Given the description of an element on the screen output the (x, y) to click on. 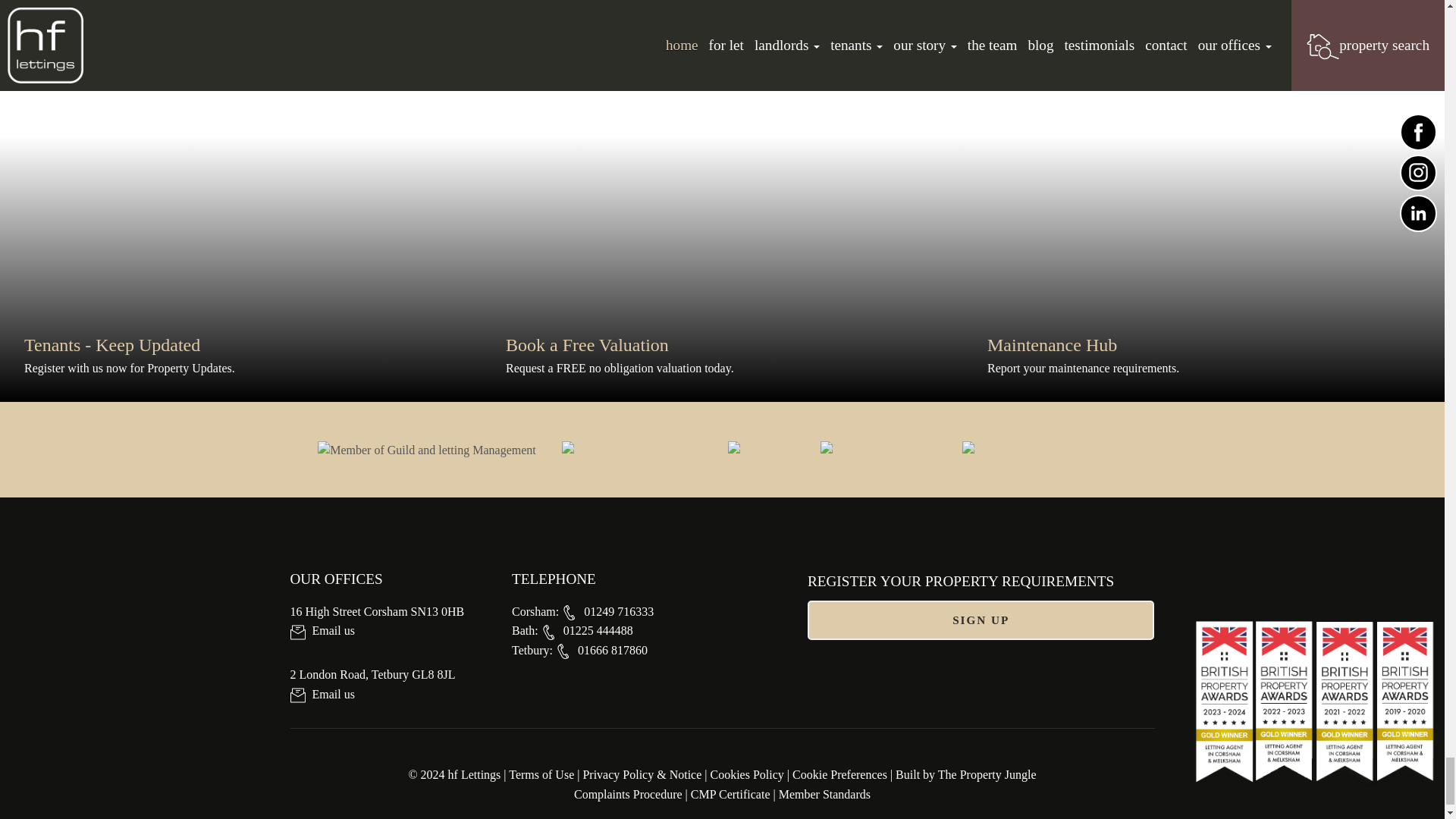
Website Built by The Property Jungle (965, 774)
